Given the description of an element on the screen output the (x, y) to click on. 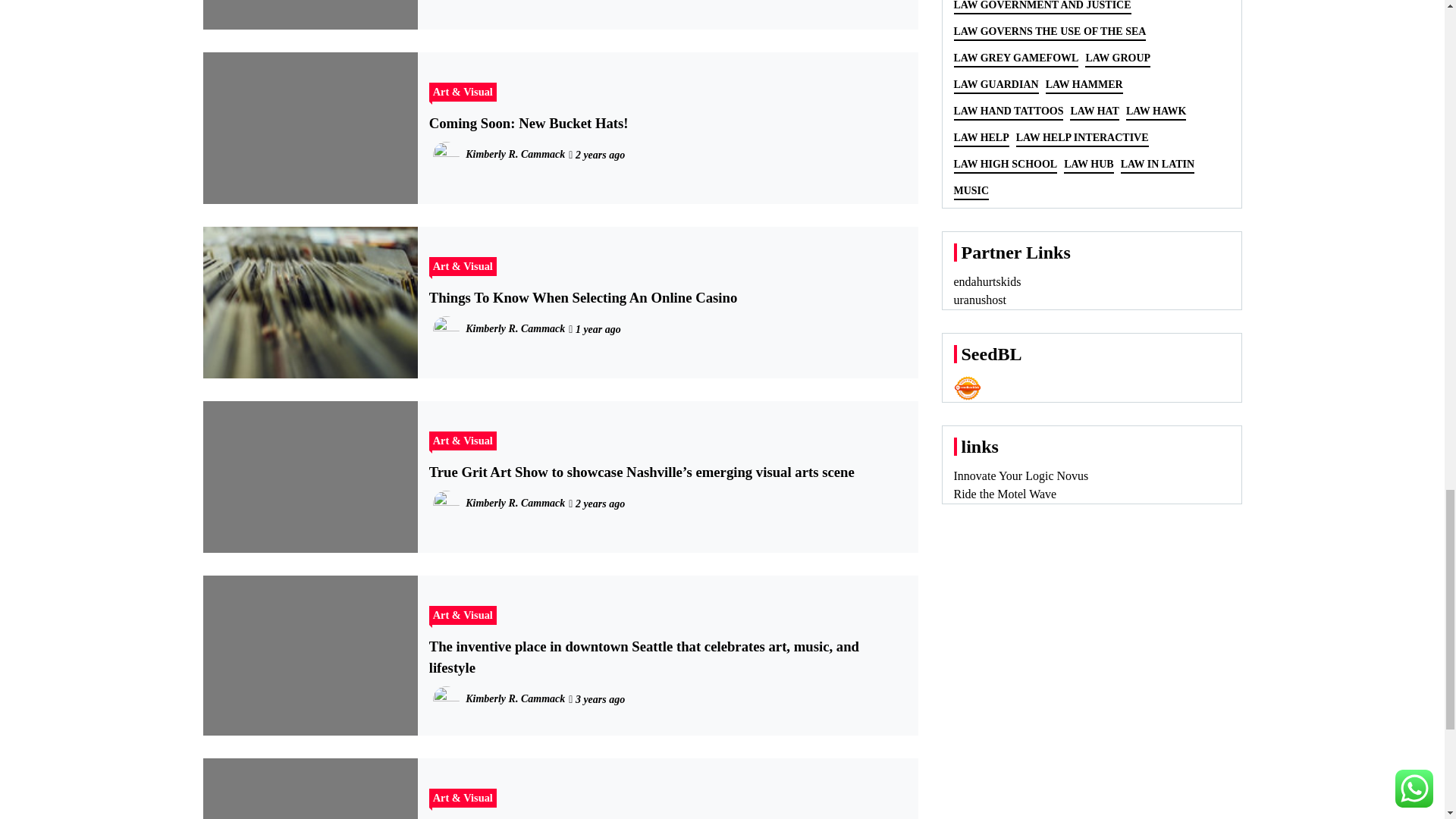
Seedbacklink (967, 388)
